Given the description of an element on the screen output the (x, y) to click on. 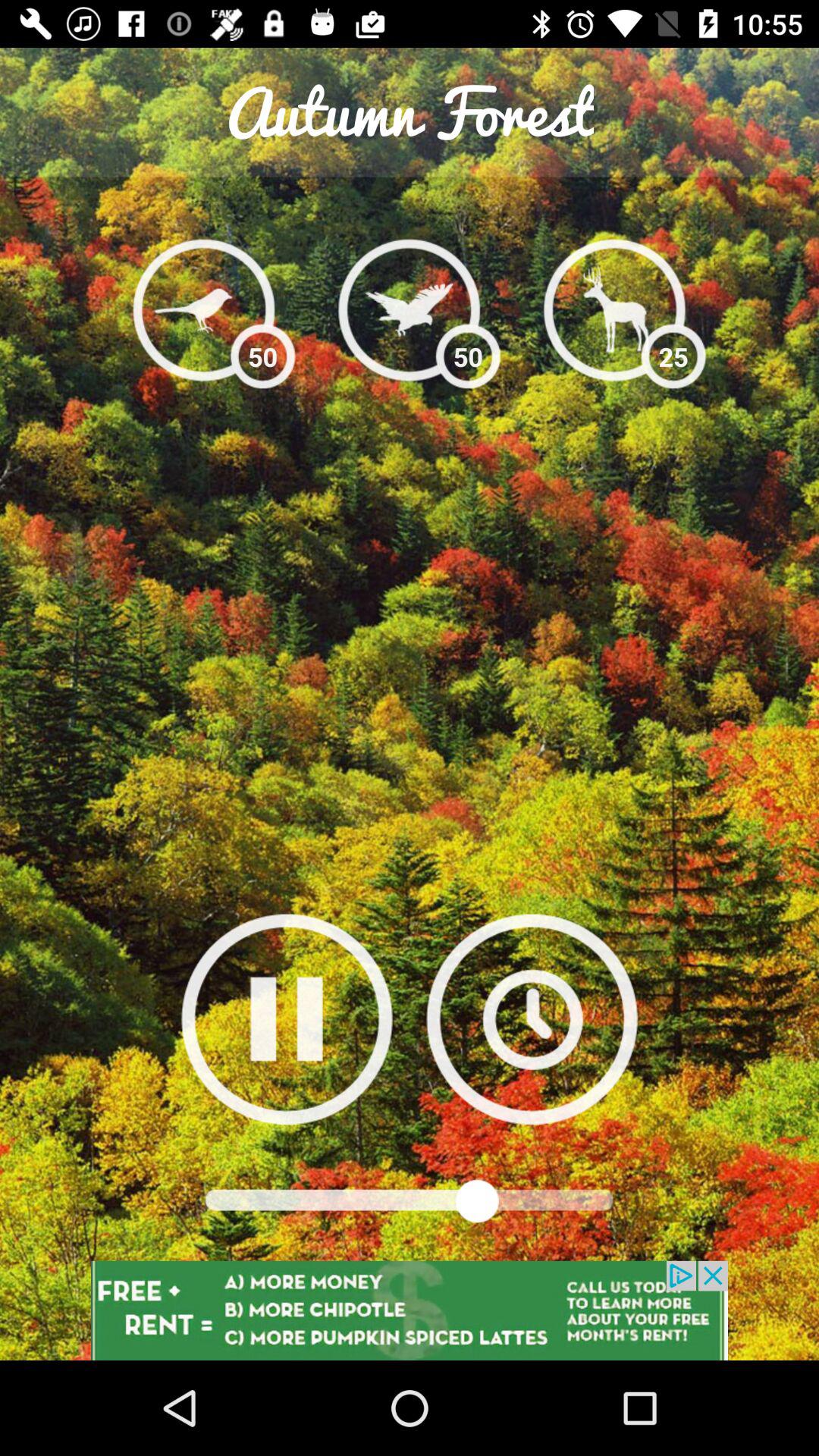
go to advertised website (409, 1310)
